Given the description of an element on the screen output the (x, y) to click on. 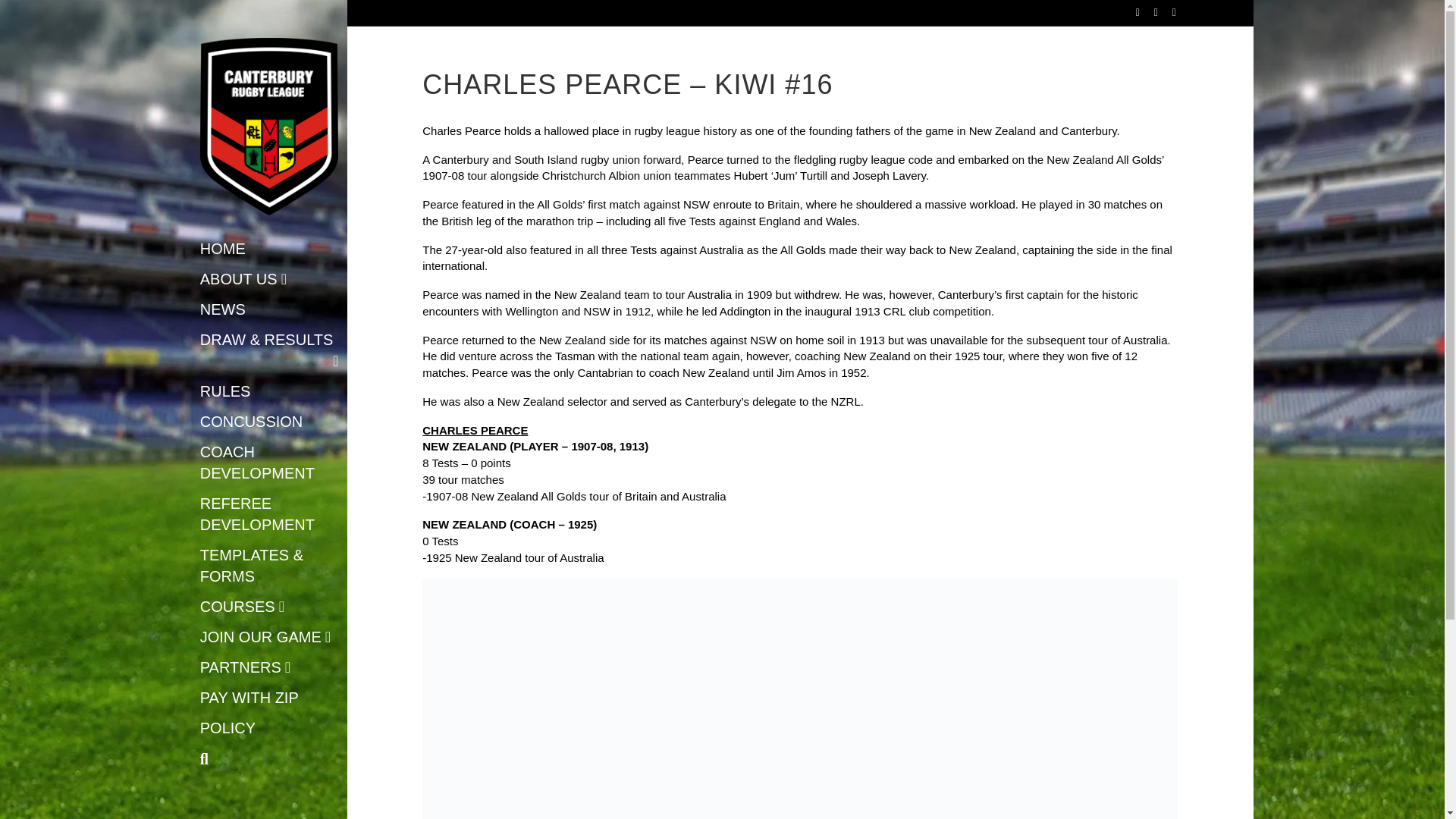
ABOUT US (242, 280)
CONCUSSION (251, 423)
POLICY (227, 729)
REFEREE DEVELOPMENT (269, 515)
Facebook (1130, 11)
Email (1166, 11)
Youtube (1148, 11)
COACH DEVELOPMENT (269, 464)
COURSES (242, 608)
HOME (222, 250)
JOIN OUR GAME (265, 638)
PARTNERS (245, 668)
NEWS (222, 310)
RULES (225, 392)
PAY WITH ZIP (249, 699)
